Given the description of an element on the screen output the (x, y) to click on. 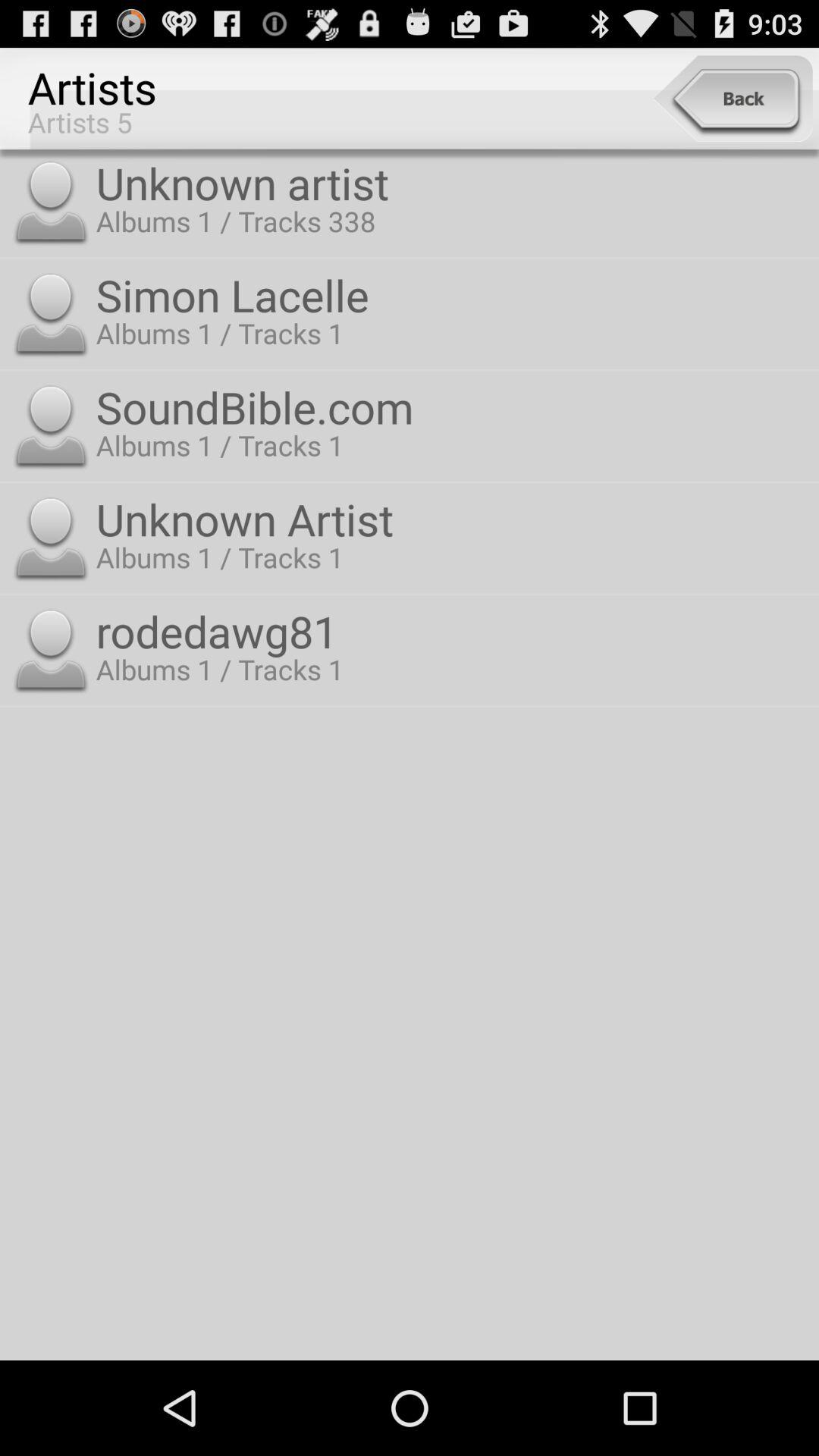
jump to soundbible.com icon (454, 406)
